Given the description of an element on the screen output the (x, y) to click on. 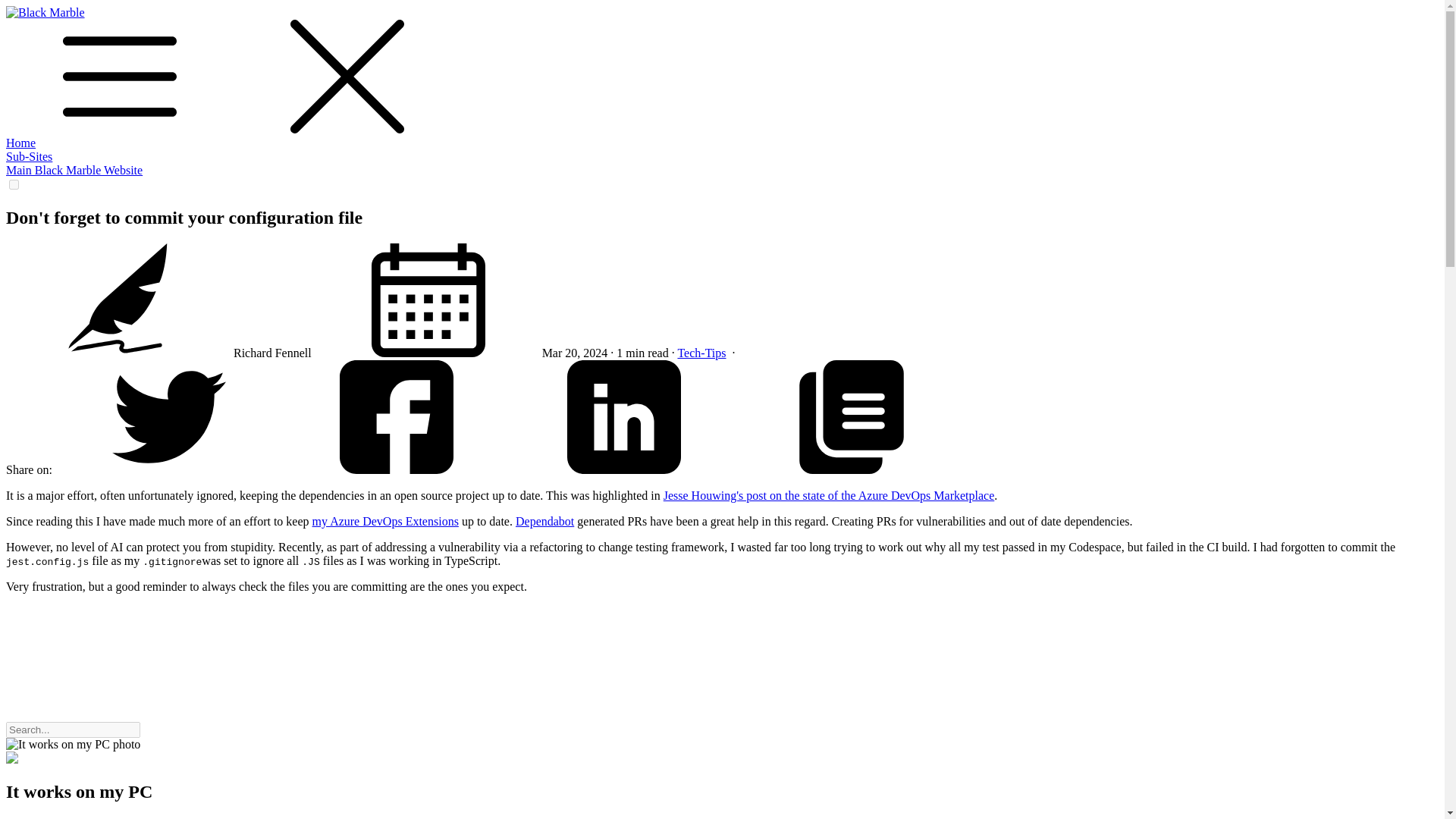
Home (19, 142)
Tech-Tips (701, 352)
on (13, 184)
Home (19, 142)
copy (851, 417)
Sub-Sites (28, 155)
linkedin (624, 417)
calendar (427, 300)
my Azure DevOps Extensions (385, 521)
author (118, 300)
Tech-Tips (701, 352)
facebook (396, 469)
Share on Twitter (168, 469)
search (256, 676)
Main Black Marble Website (73, 169)
